Given the description of an element on the screen output the (x, y) to click on. 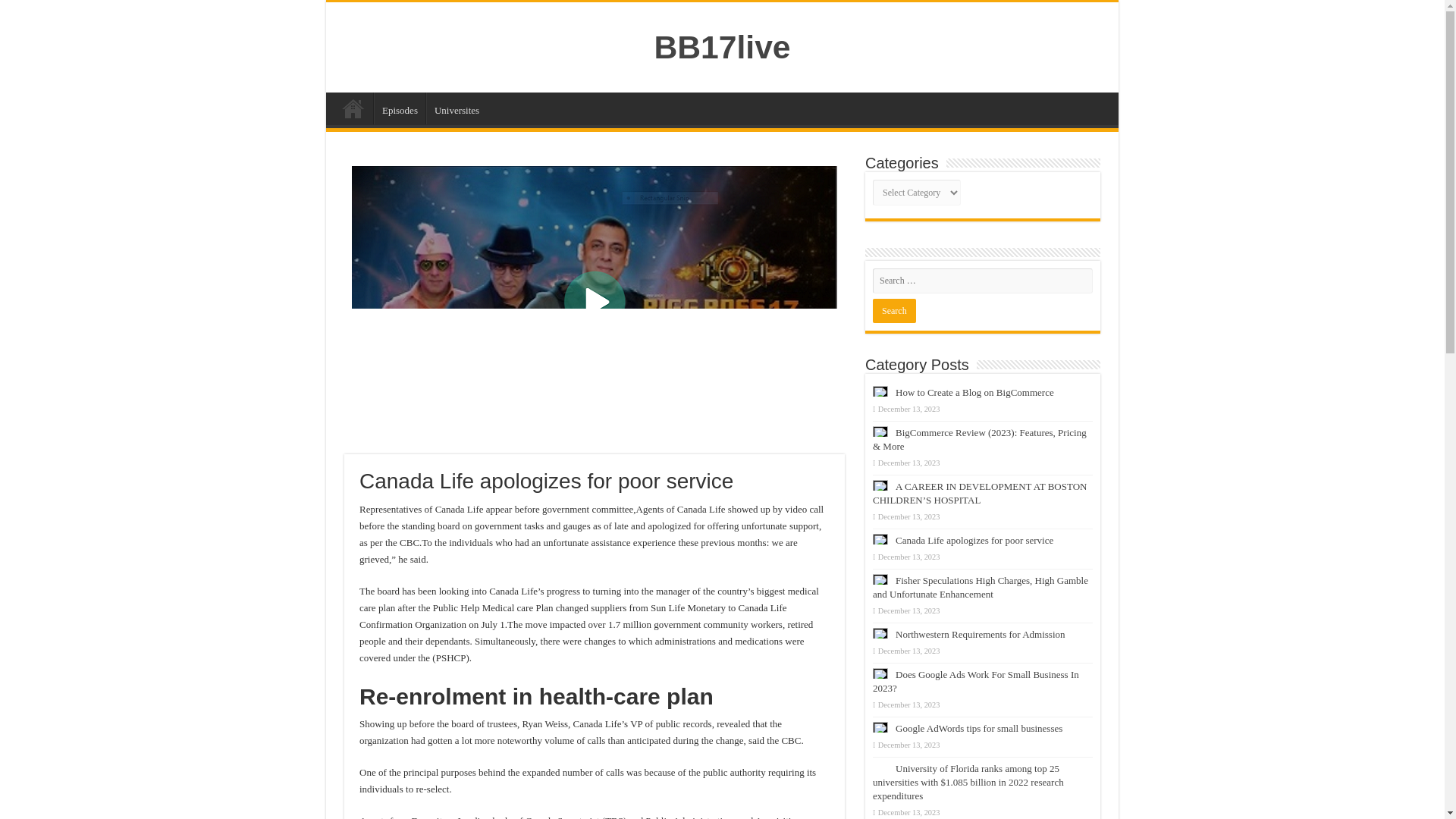
BB17live (721, 46)
Does Google Ads Work For Small Business In 2023? (975, 681)
Home (352, 108)
Canada Life apologizes for poor service (973, 540)
Universites (456, 108)
Search (893, 310)
Search (893, 310)
How to Create a Blog on BigCommerce (974, 392)
Google AdWords tips for small businesses (978, 727)
